Given the description of an element on the screen output the (x, y) to click on. 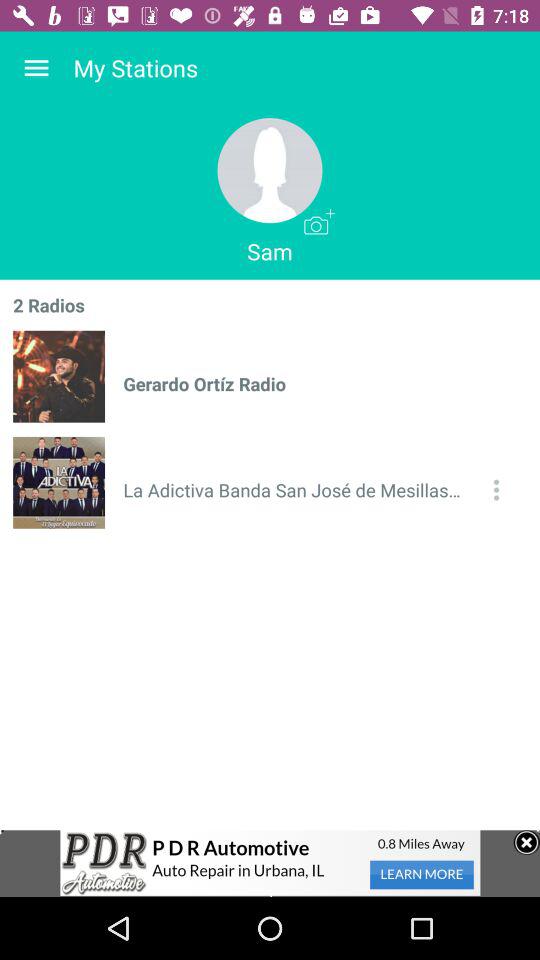
choose item below sam icon (296, 383)
